Given the description of an element on the screen output the (x, y) to click on. 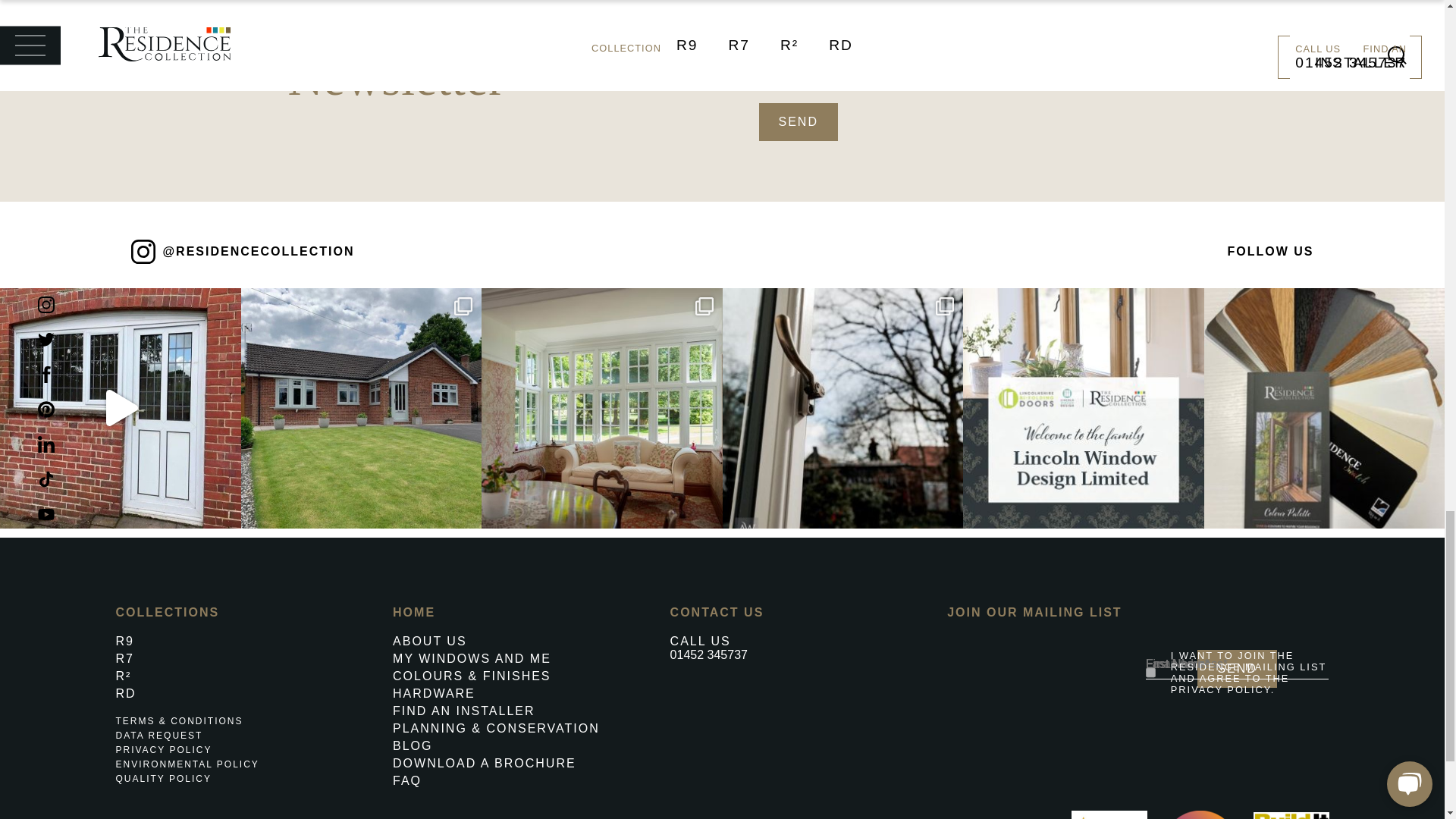
1 (763, 76)
Send (1236, 668)
Send (797, 121)
